Given the description of an element on the screen output the (x, y) to click on. 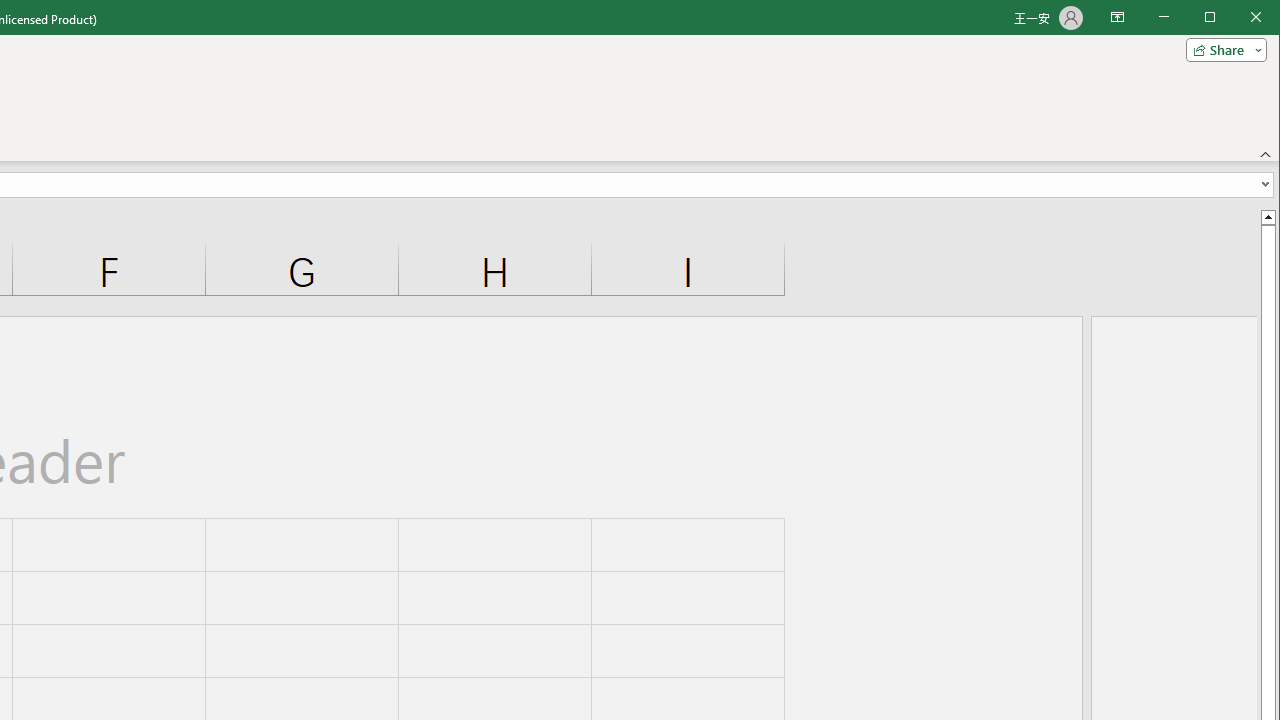
Maximize (1238, 18)
